Given the description of an element on the screen output the (x, y) to click on. 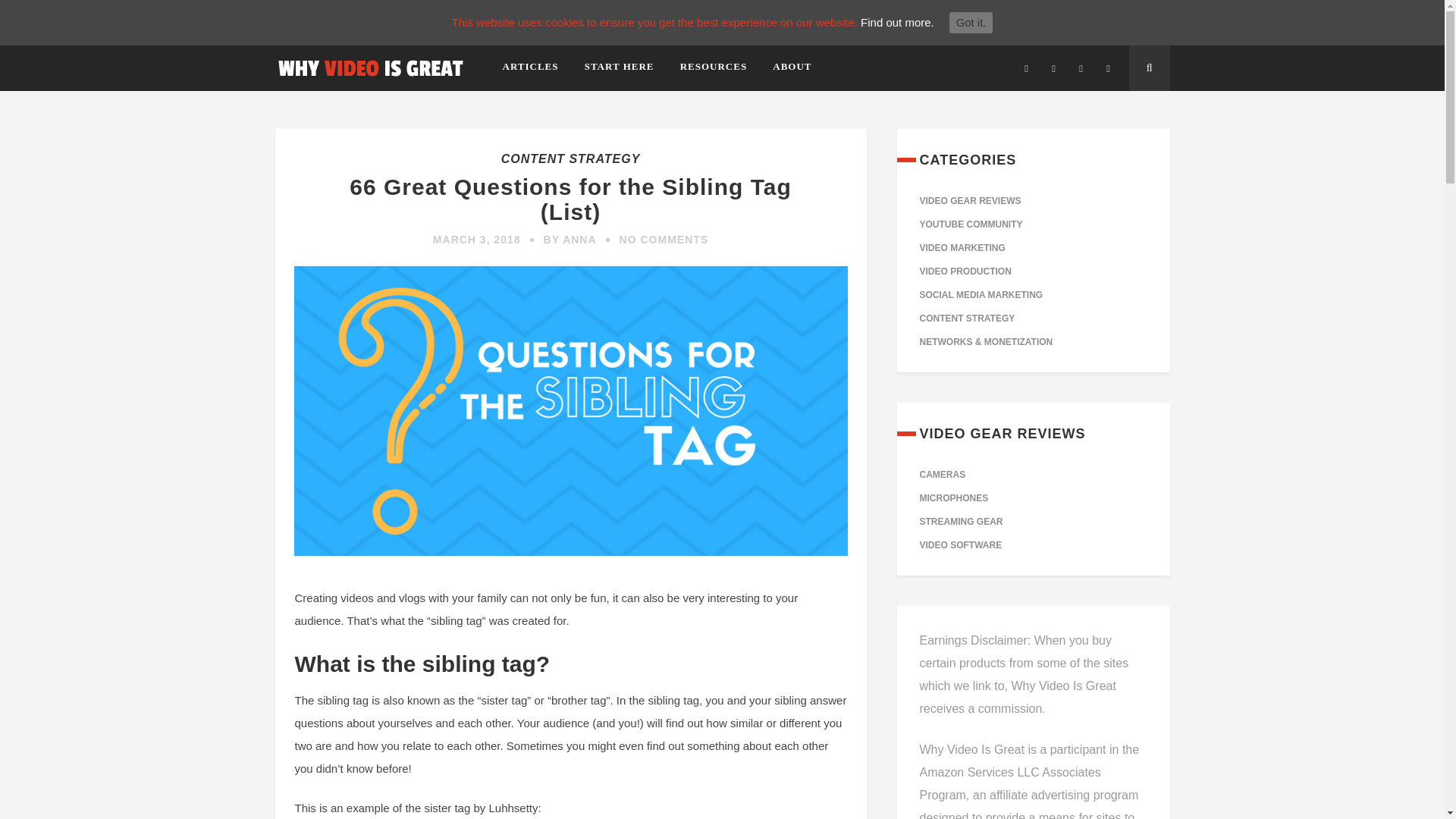
RESOURCES (713, 69)
ABOUT (785, 69)
BY ANNA (569, 239)
NO COMMENTS (664, 239)
START HERE (619, 69)
ARTICLES (535, 69)
CONTENT STRATEGY (570, 158)
MARCH 3, 2018 (476, 239)
